Given the description of an element on the screen output the (x, y) to click on. 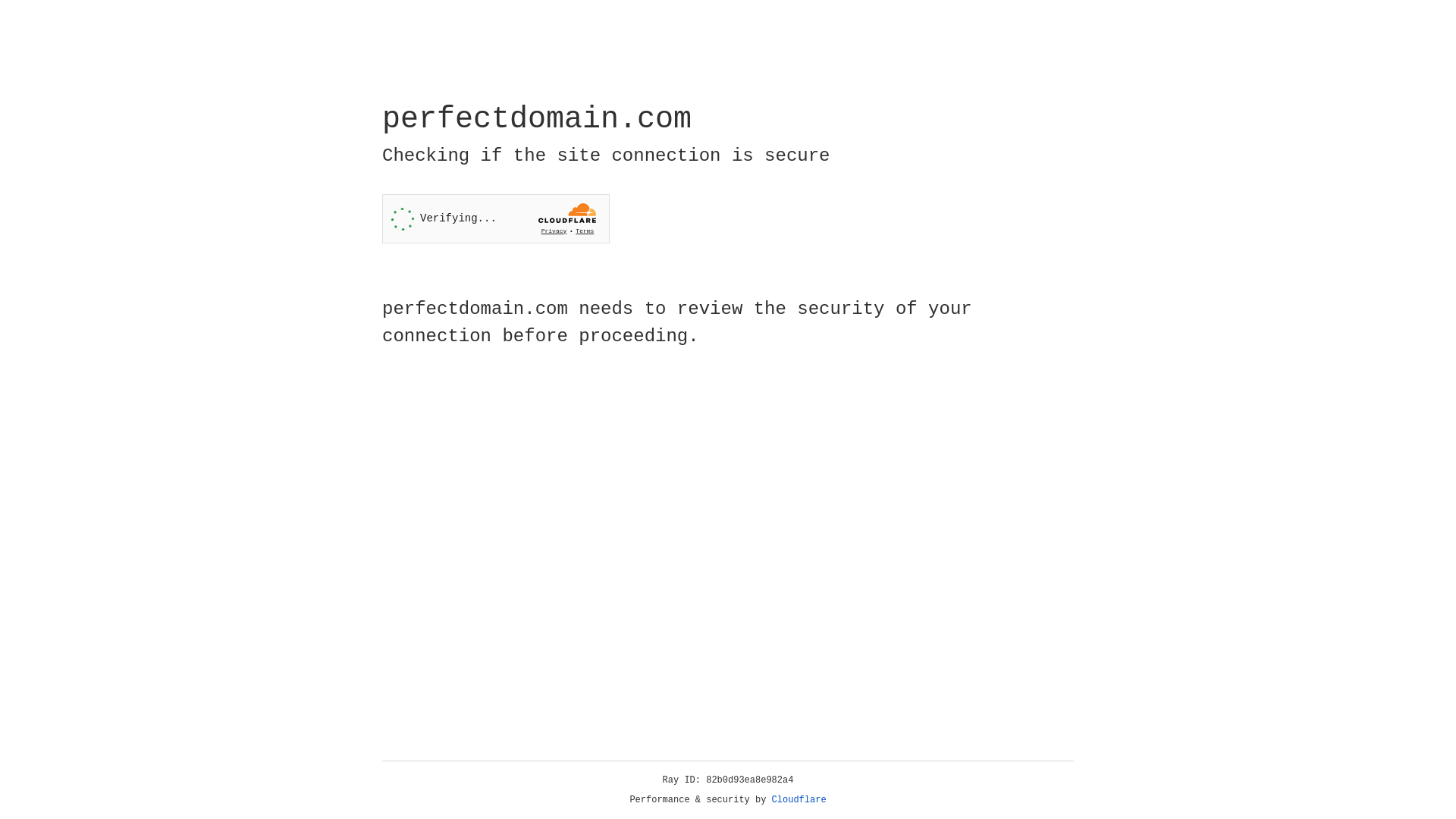
Widget containing a Cloudflare security challenge Element type: hover (495, 218)
Cloudflare Element type: text (798, 799)
